Given the description of an element on the screen output the (x, y) to click on. 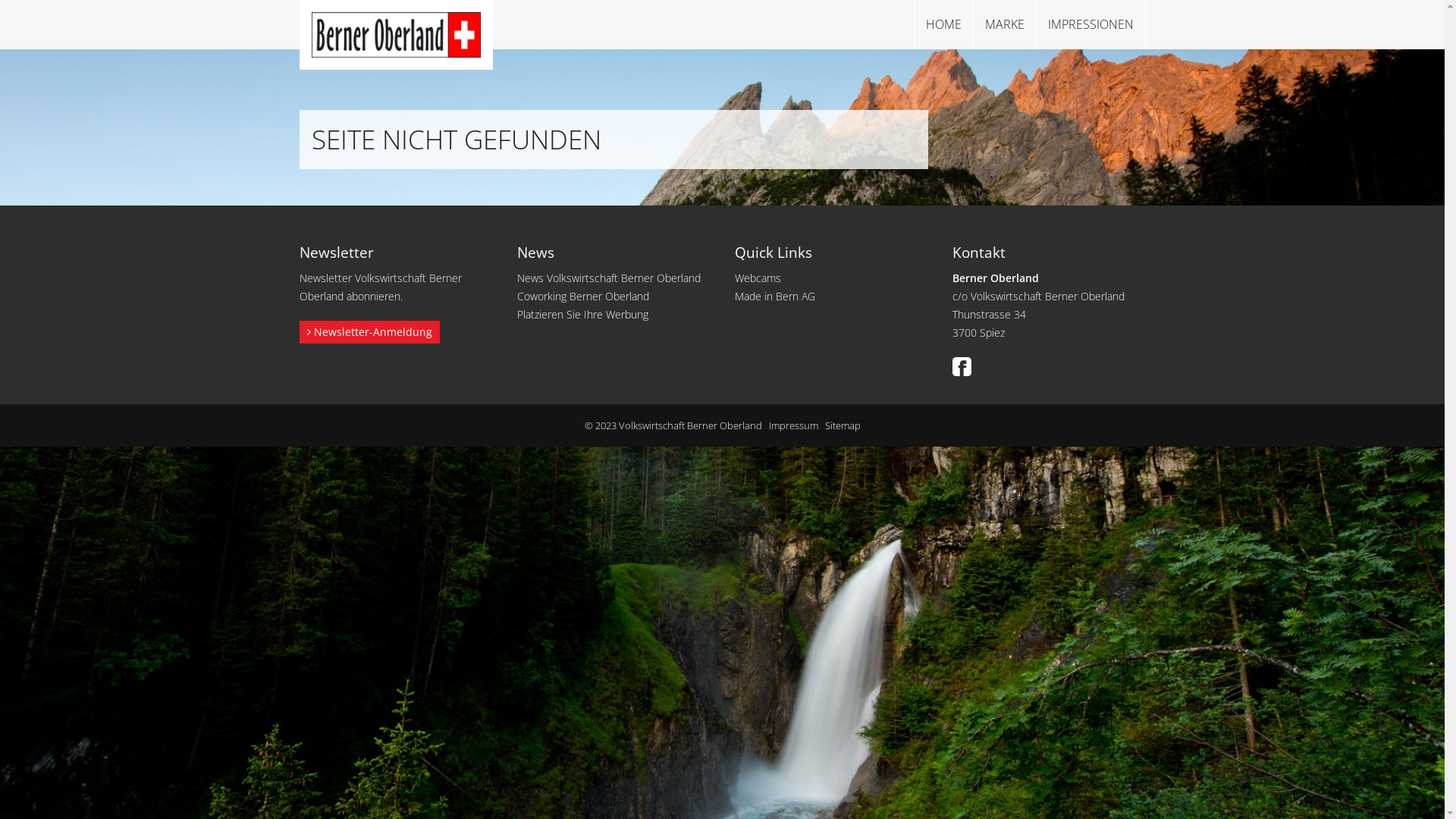
News Volkswirtschaft Berner Oberland Element type: text (608, 277)
Coworking Berner Oberland  Element type: text (584, 295)
Berner Oberland Element type: hover (395, 34)
Impressum Element type: text (793, 425)
Webcams Element type: text (757, 277)
  Element type: text (964, 365)
Platzieren Sie Ihre Werbung Element type: text (582, 314)
Made in Bern AG Element type: text (774, 295)
Newsletter-Anmeldung Element type: text (368, 331)
Sitemap Element type: text (842, 425)
MARKE Element type: text (1003, 24)
HOME Element type: text (942, 24)
IMPRESSIONEN Element type: text (1090, 24)
